Given the description of an element on the screen output the (x, y) to click on. 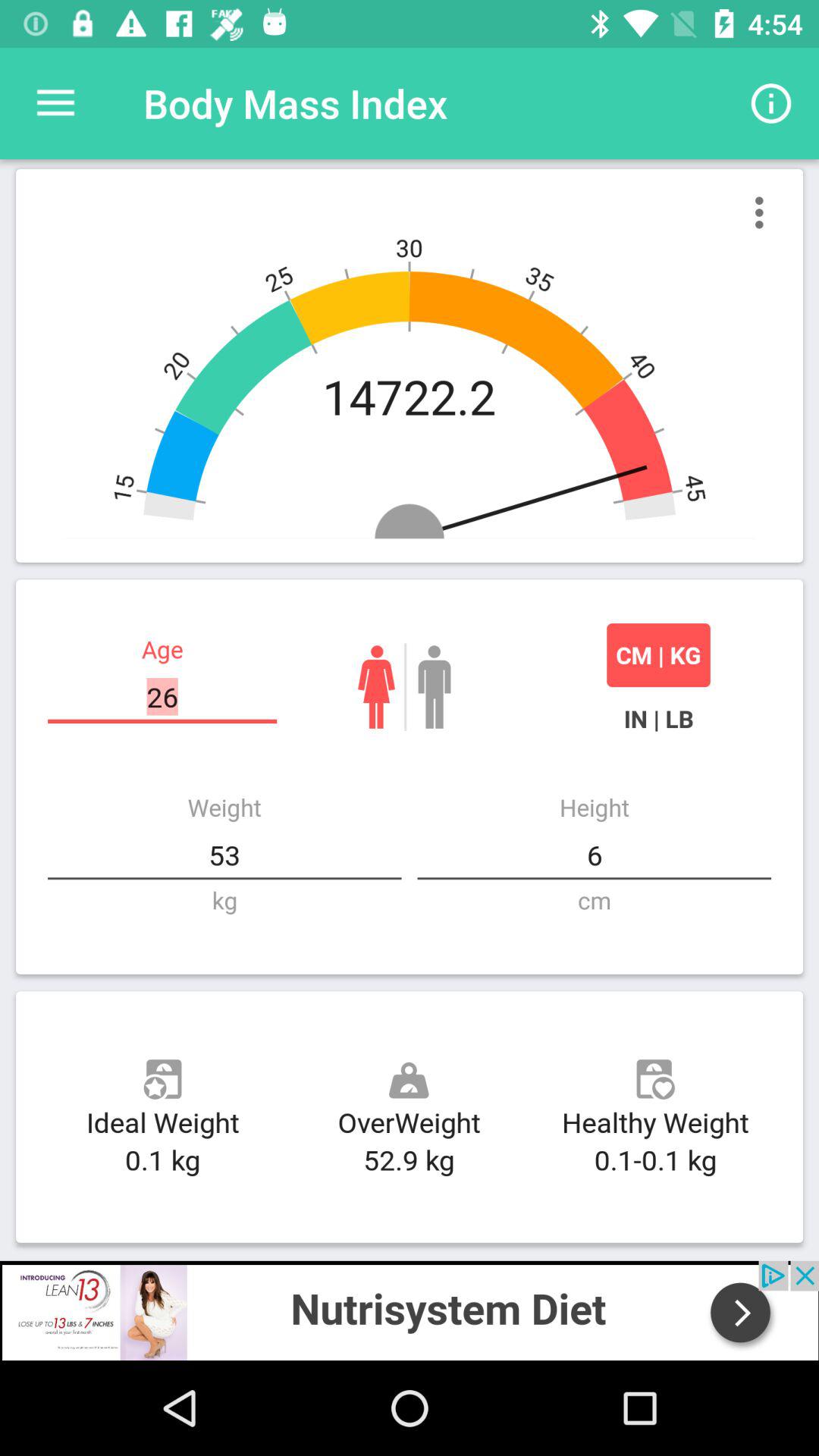
click on the units above heights (658, 719)
select the image below body mass index (409, 365)
click on the text field below heights (594, 855)
click on the button at top right corner of the page (771, 103)
